Given the description of an element on the screen output the (x, y) to click on. 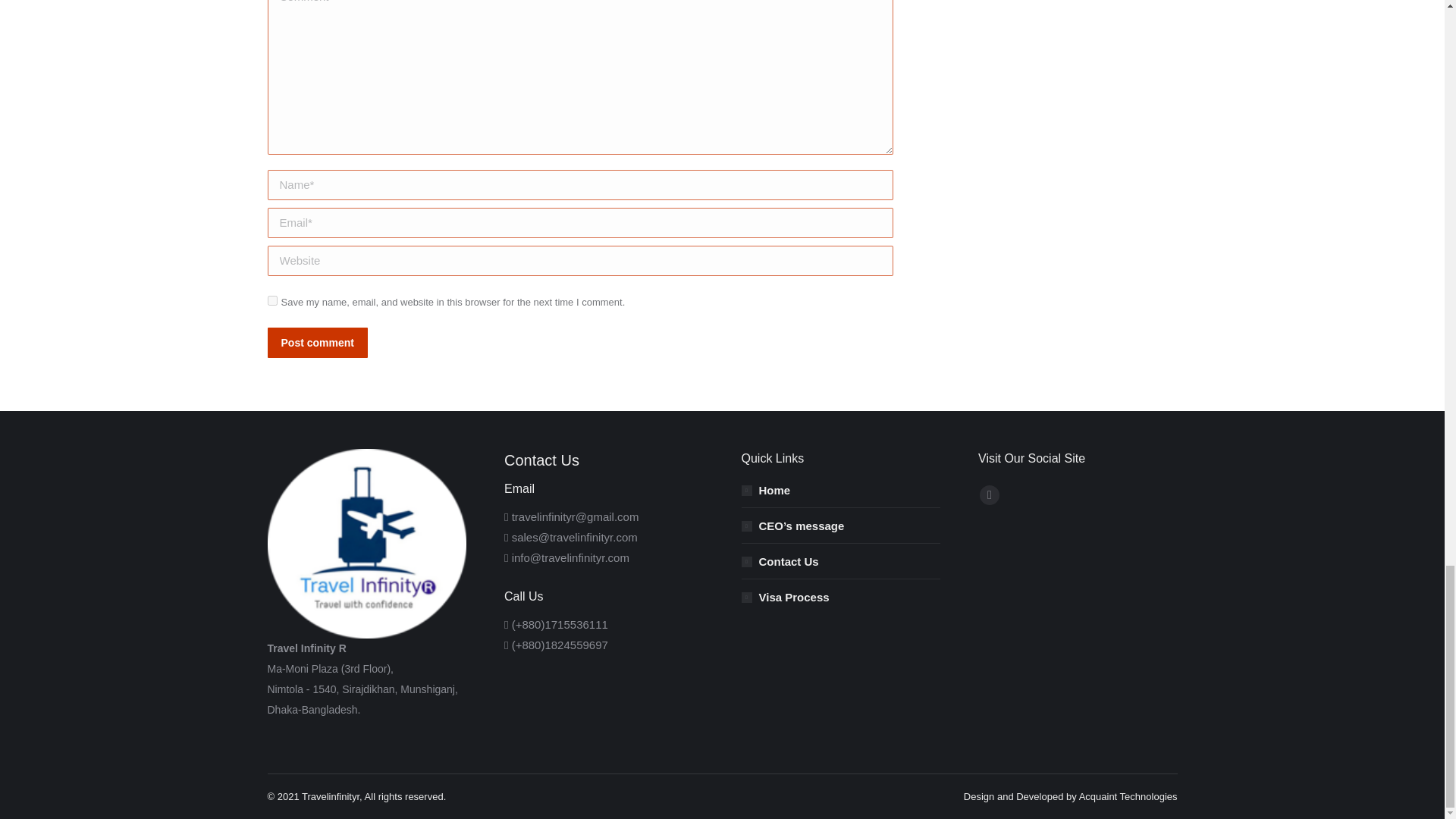
yes (271, 300)
Facebook page opens in new window (988, 495)
